Given the description of an element on the screen output the (x, y) to click on. 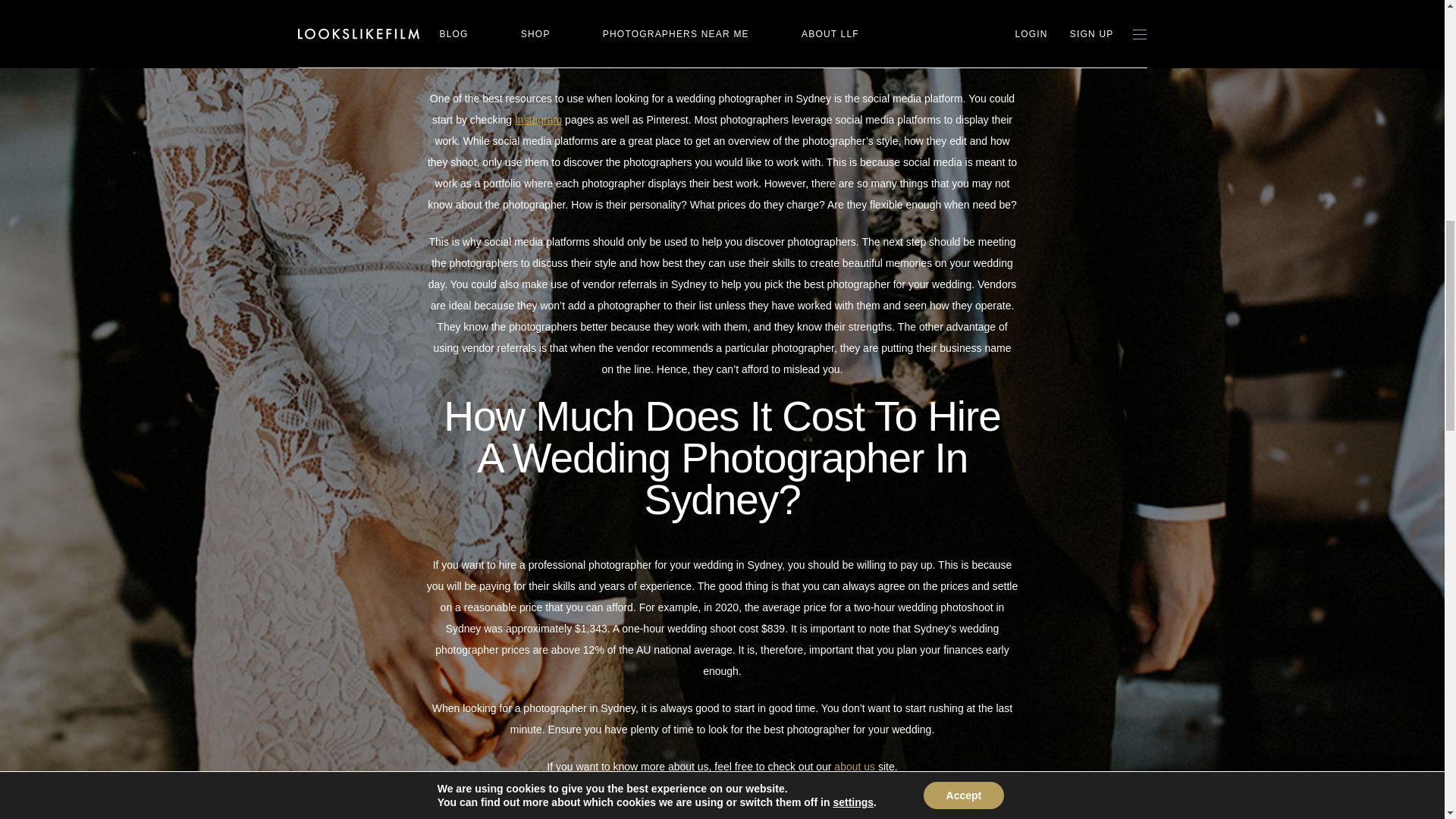
Instagram (538, 119)
about us (854, 766)
